Given the description of an element on the screen output the (x, y) to click on. 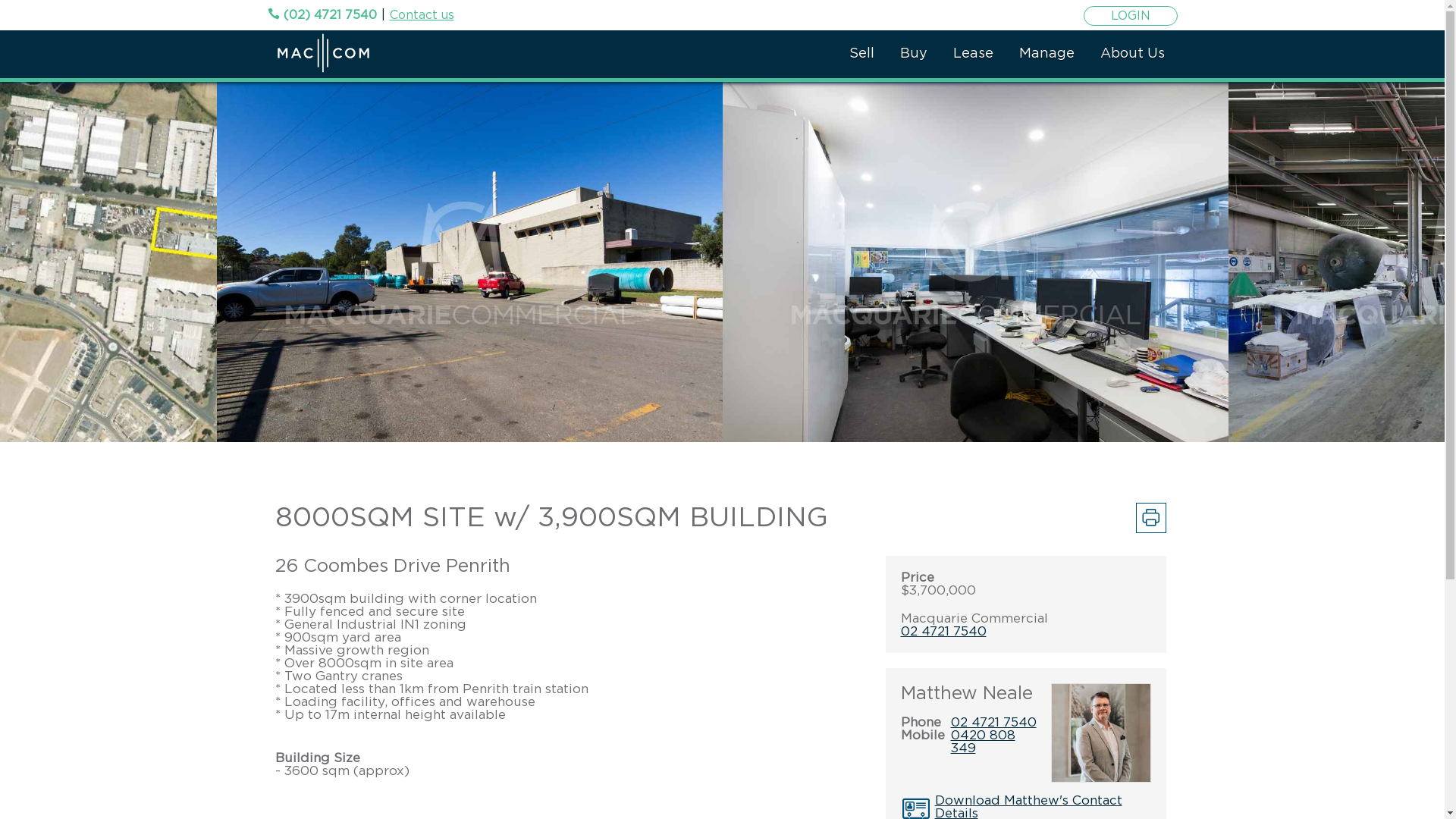
0420 808 349 Element type: text (982, 741)
Sell Element type: text (860, 54)
Matthew Neale Element type: text (966, 693)
Manage Element type: text (1045, 54)
02 4721 7540 Element type: text (943, 630)
LOGIN Element type: text (1129, 15)
(02) 4721 7540 Element type: text (321, 15)
About Us Element type: text (1132, 54)
Lease Element type: text (973, 54)
Buy Element type: text (913, 54)
Print Element type: hover (1150, 517)
02 4721 7540 Element type: text (993, 721)
Contact us Element type: text (421, 15)
